Given the description of an element on the screen output the (x, y) to click on. 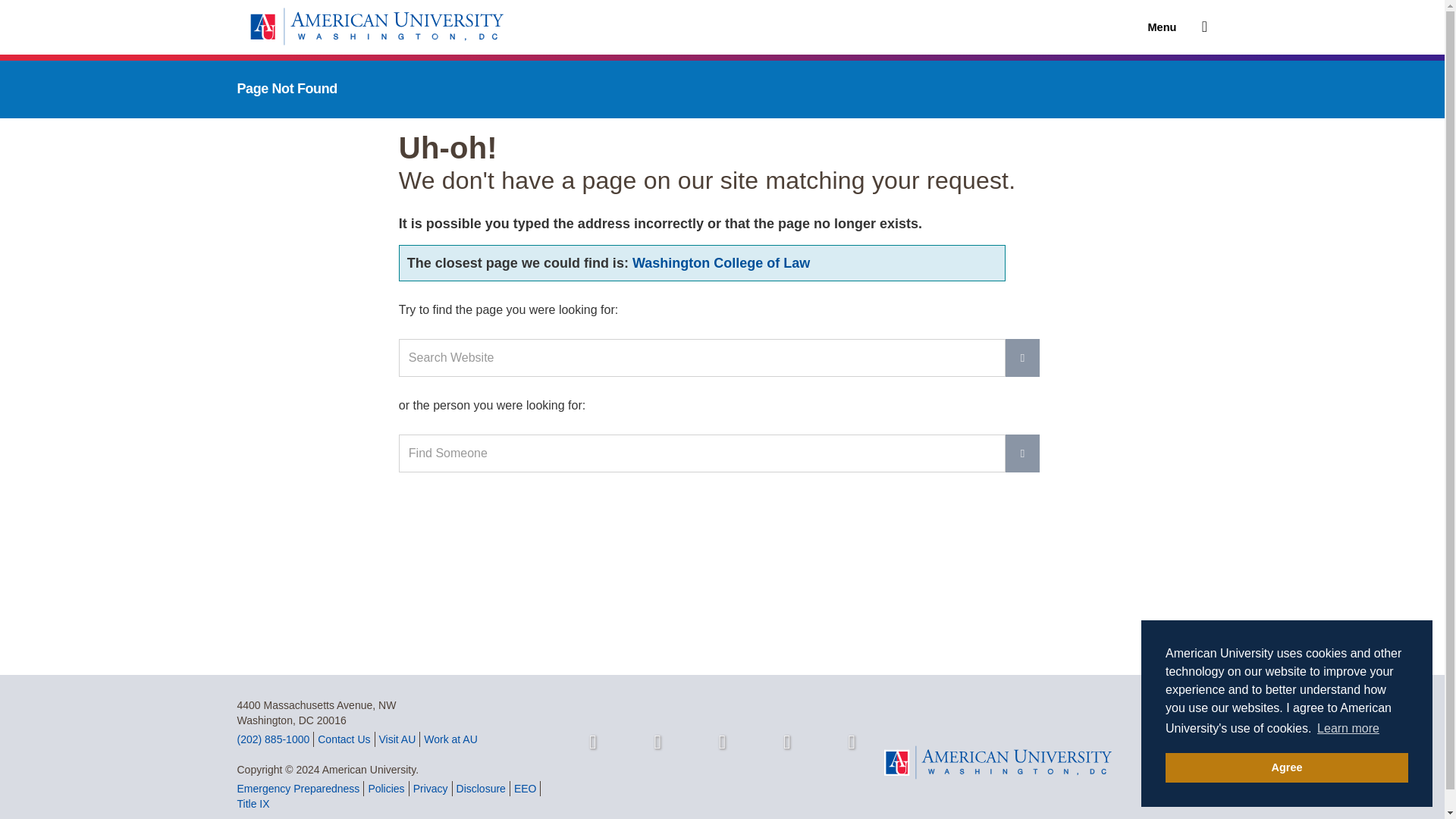
Skip to main content (485, 7)
Learn more (1347, 728)
Menu (1169, 26)
Agree (1286, 767)
